Given the description of an element on the screen output the (x, y) to click on. 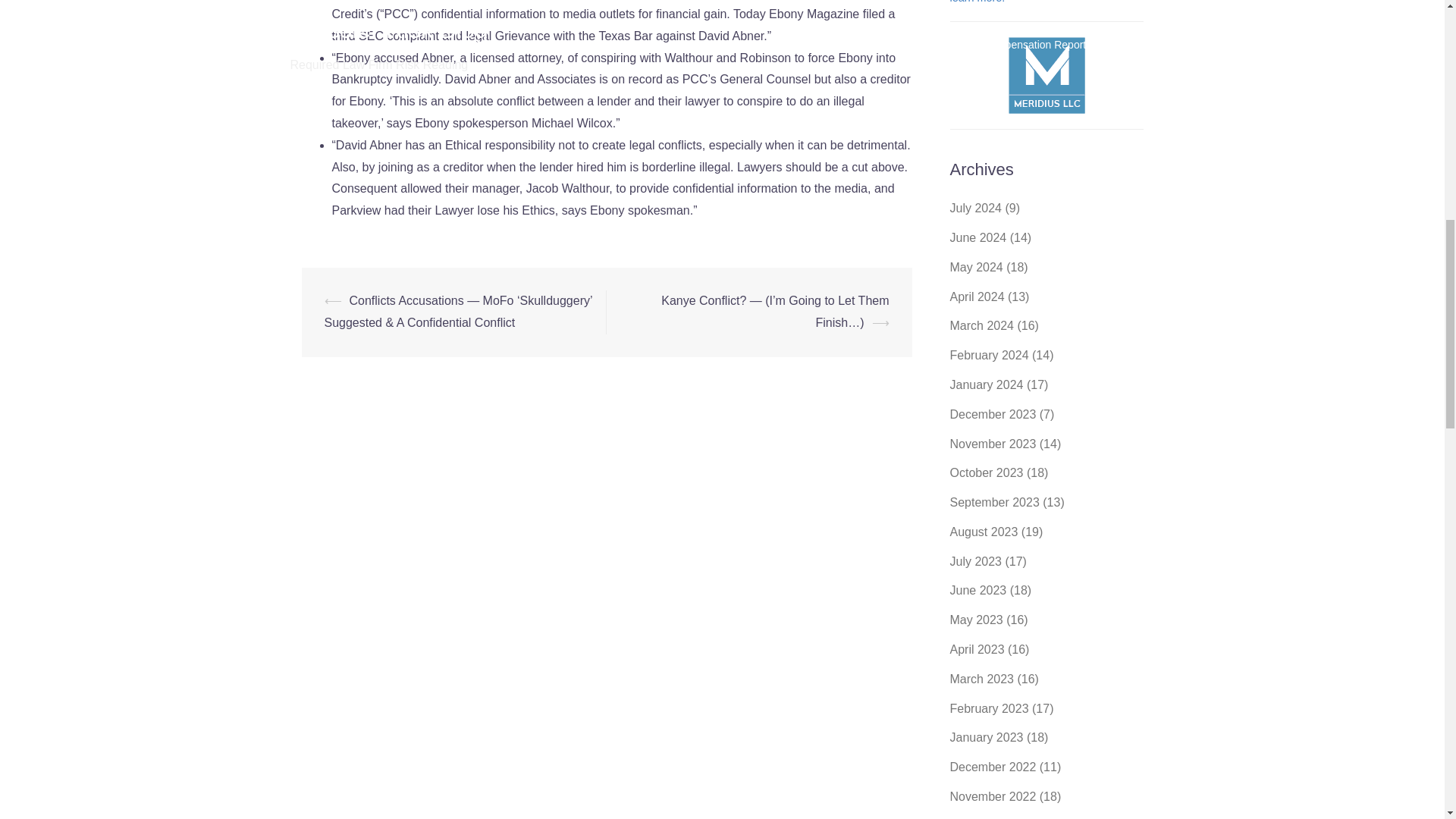
December 2022 (992, 766)
September 2023 (994, 502)
October 2023 (986, 472)
March 2024 (981, 325)
November 2022 (992, 796)
February 2023 (988, 707)
Click here to learn more. (1034, 2)
July 2024 (975, 207)
April 2024 (976, 296)
June 2024 (977, 237)
August 2023 (983, 531)
July 2023 (975, 561)
December 2023 (992, 413)
March 2023 (981, 678)
April 2023 (976, 649)
